Given the description of an element on the screen output the (x, y) to click on. 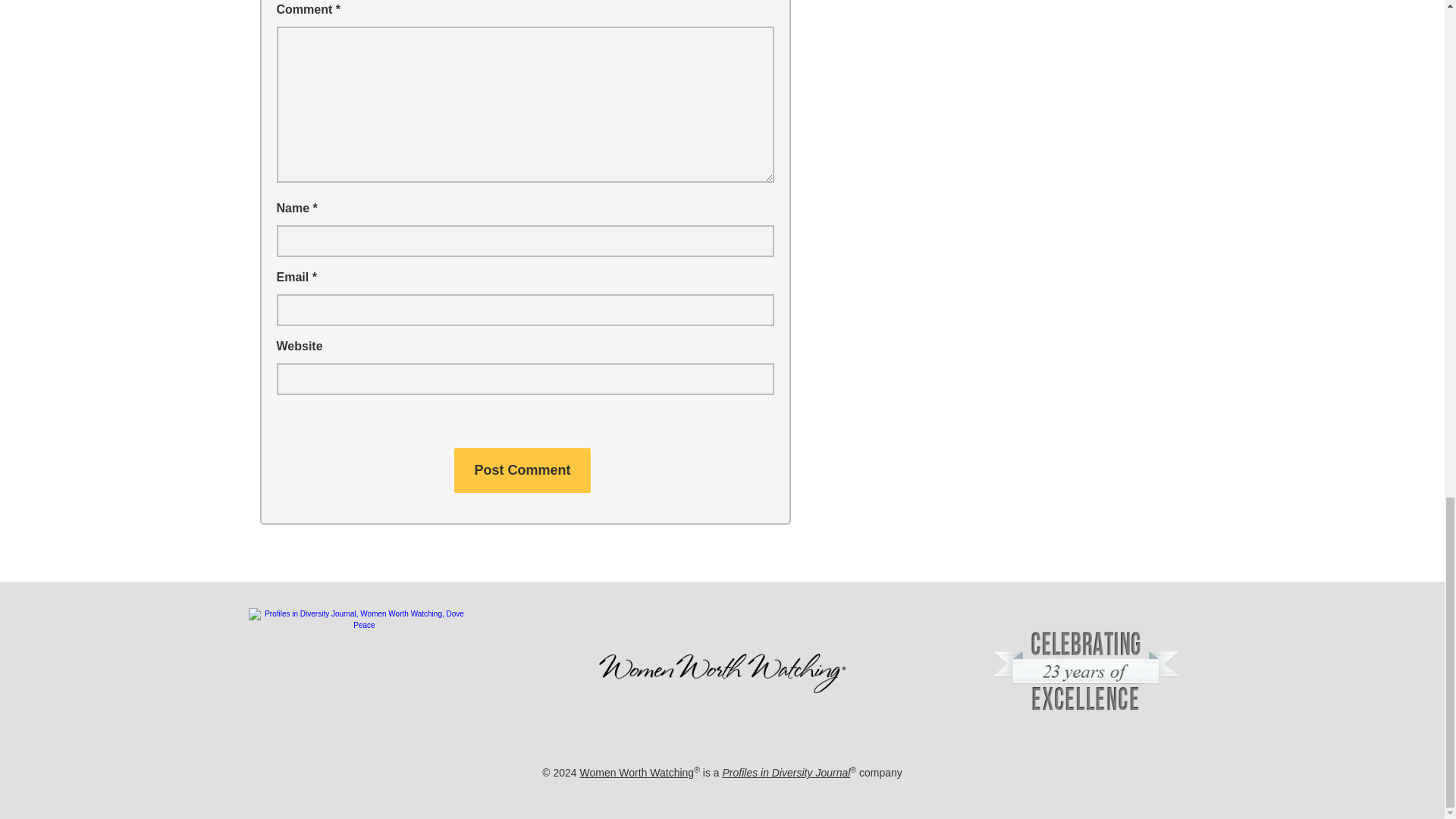
Post Comment (521, 470)
